Given the description of an element on the screen output the (x, y) to click on. 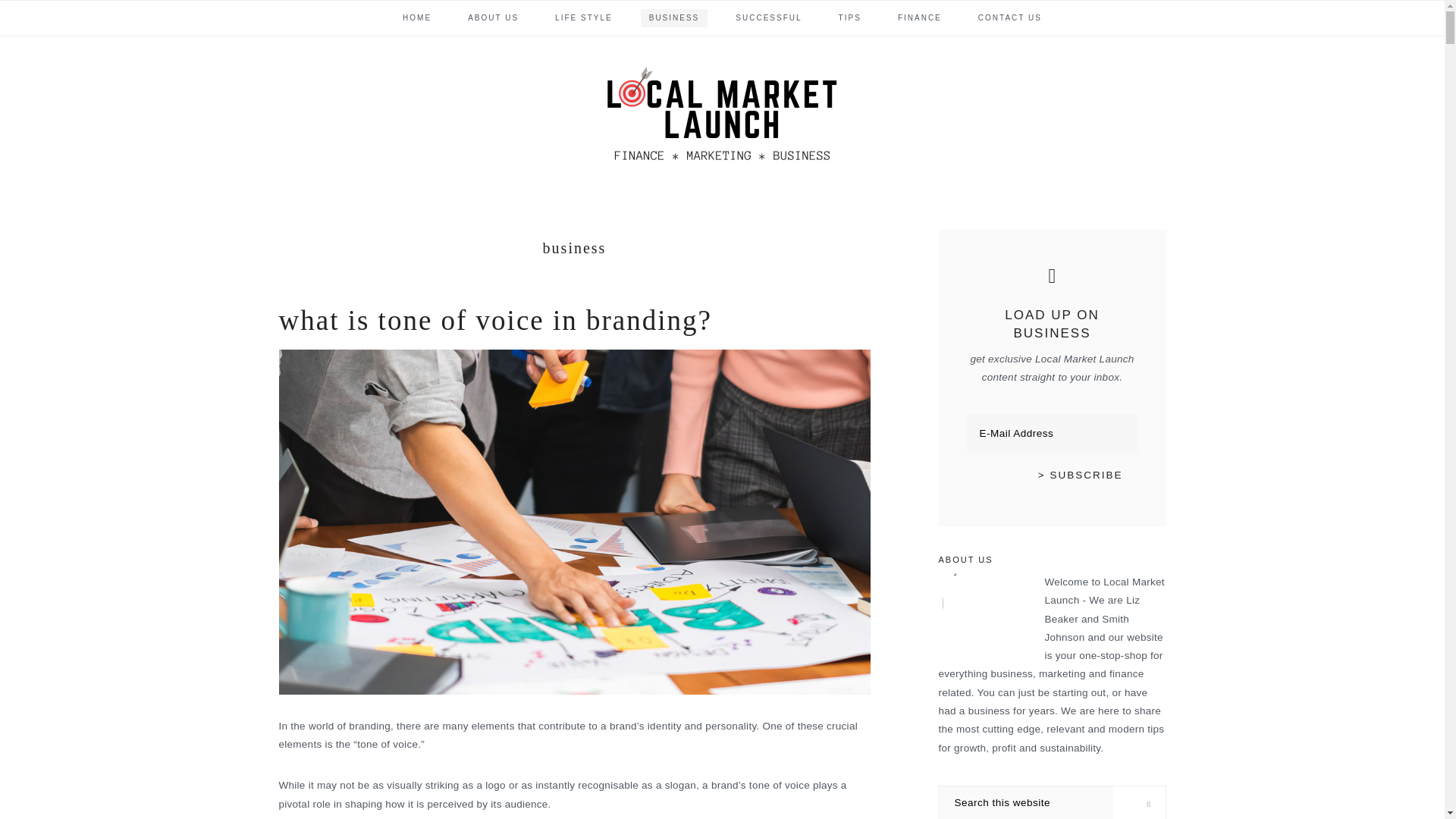
BUSINESS (673, 18)
LIFE STYLE (584, 18)
what is tone of voice in branding? (495, 319)
local market launch (721, 116)
ABOUT US (493, 18)
TIPS (849, 18)
CONTACT US (1009, 18)
SUCCESSFUL (767, 18)
HOME (416, 18)
FINANCE (919, 18)
